Given the description of an element on the screen output the (x, y) to click on. 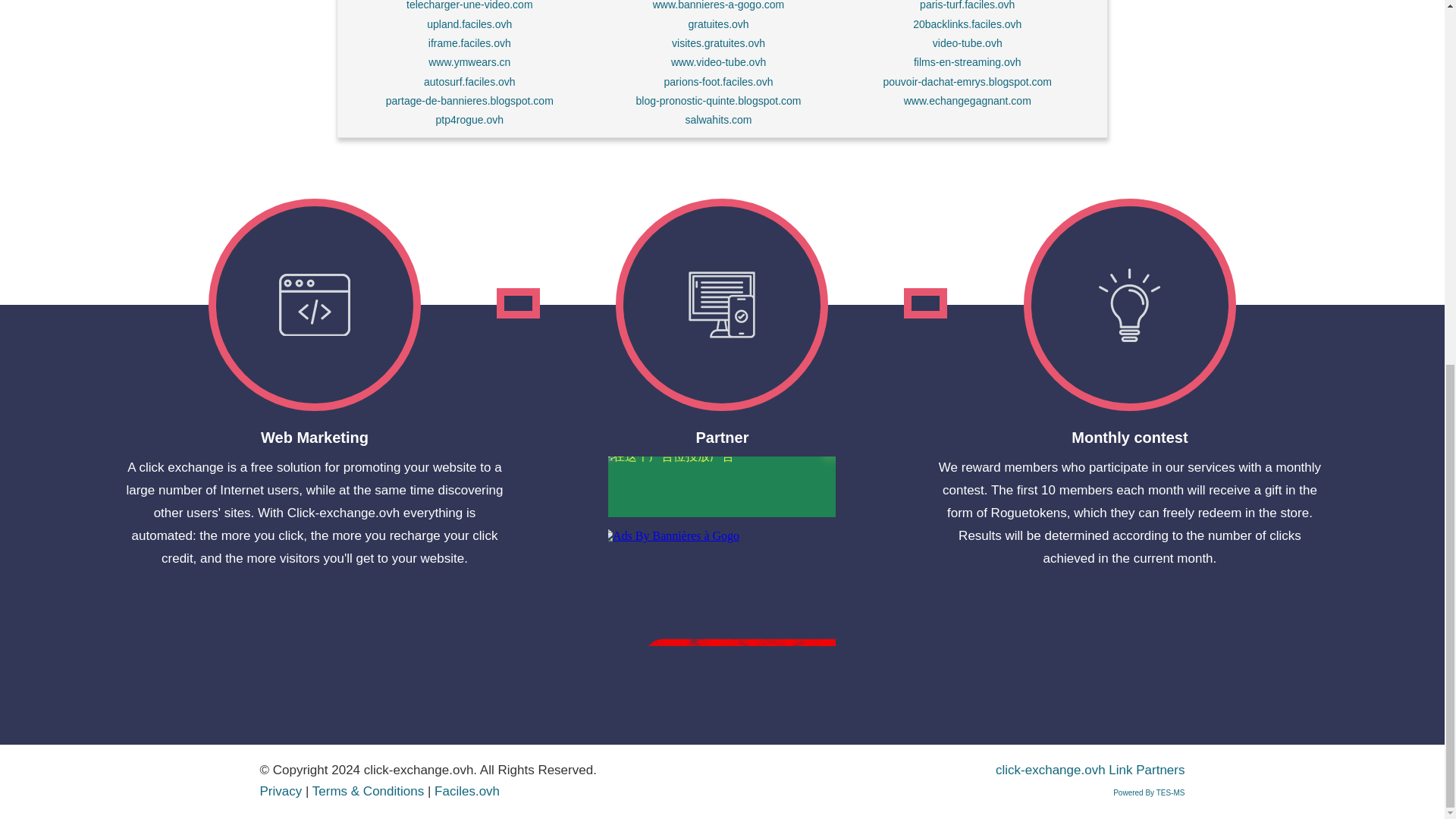
20backlinks.faciles.ovh (967, 24)
www.bannieres-a-gogo.com (718, 5)
upland.faciles.ovh (469, 24)
www.echangegagnant.com (967, 101)
paris-turf.faciles.ovh (967, 5)
video-tube.ovh (968, 42)
films-en-streaming.ovh (968, 61)
www.ymwears.cn (469, 61)
pouvoir-dachat-emrys.blogspot.com (966, 81)
www.video-tube.ovh (718, 61)
blog-pronostic-quinte.blogspot.com (719, 101)
telecharger-une-video.com (469, 5)
autosurf.faciles.ovh (469, 81)
visites.gratuites.ovh (718, 42)
gratuites.ovh (717, 24)
